Given the description of an element on the screen output the (x, y) to click on. 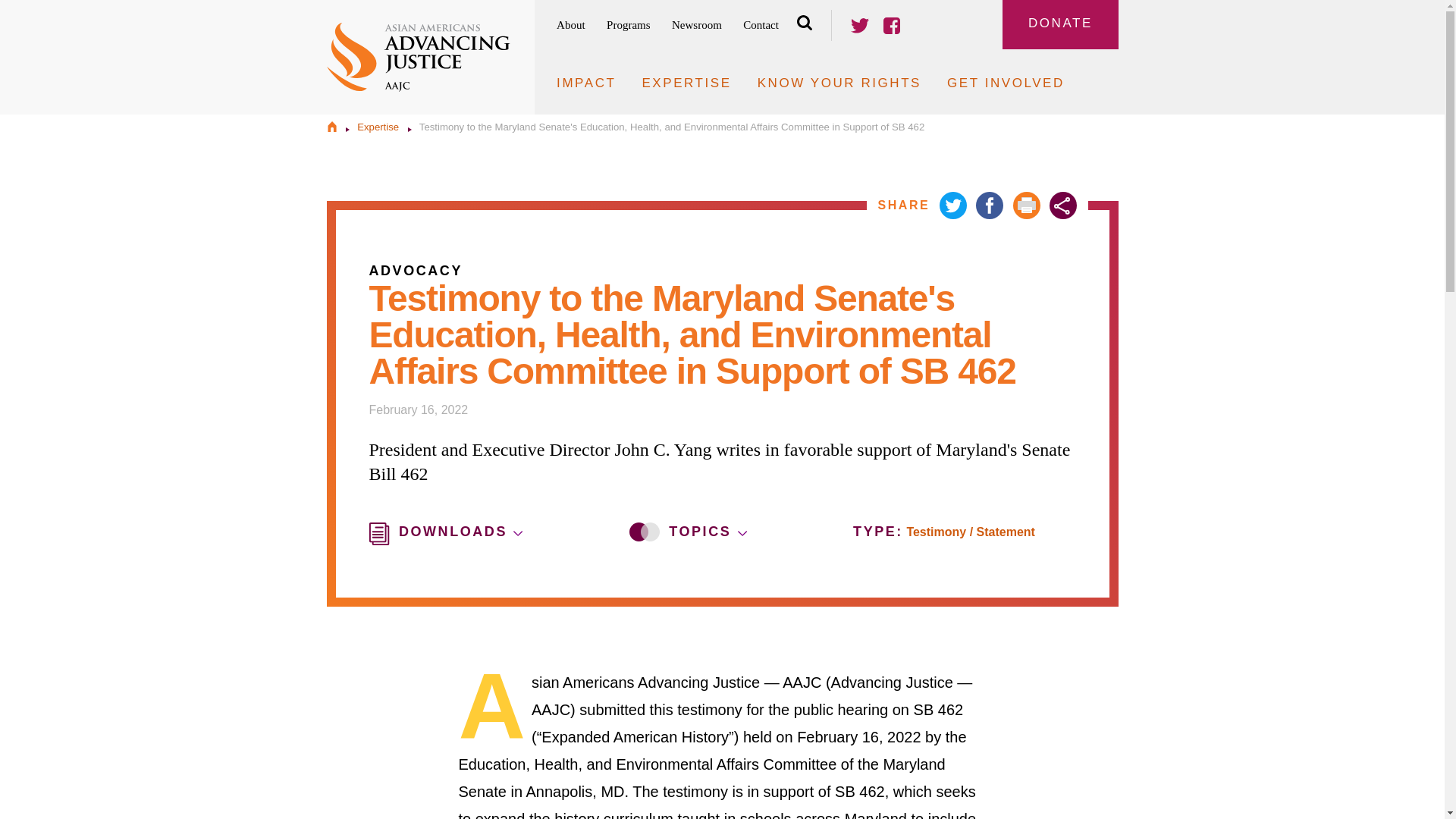
Icon (742, 533)
Facebook (891, 24)
Facebook (891, 25)
Twitter (859, 25)
Home (331, 126)
Newsroom (696, 25)
Twitter (859, 24)
Group (643, 531)
Facebook (989, 205)
